Given the description of an element on the screen output the (x, y) to click on. 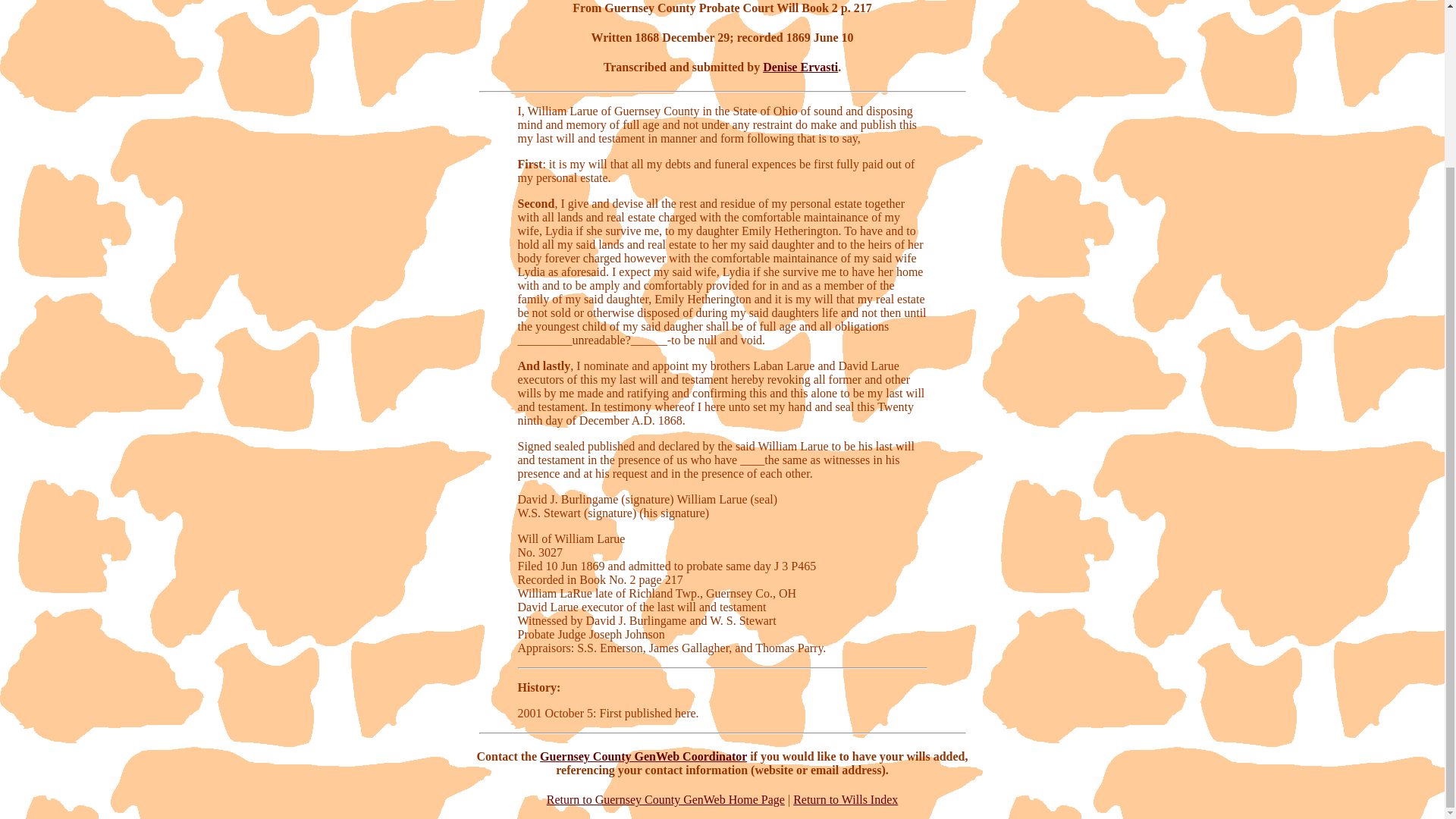
Denise Ervasti (800, 66)
Guernsey County GenWeb Coordinator (643, 756)
Return to Wills Index (845, 799)
Return to Guernsey County GenWeb Home Page (665, 799)
